Given the description of an element on the screen output the (x, y) to click on. 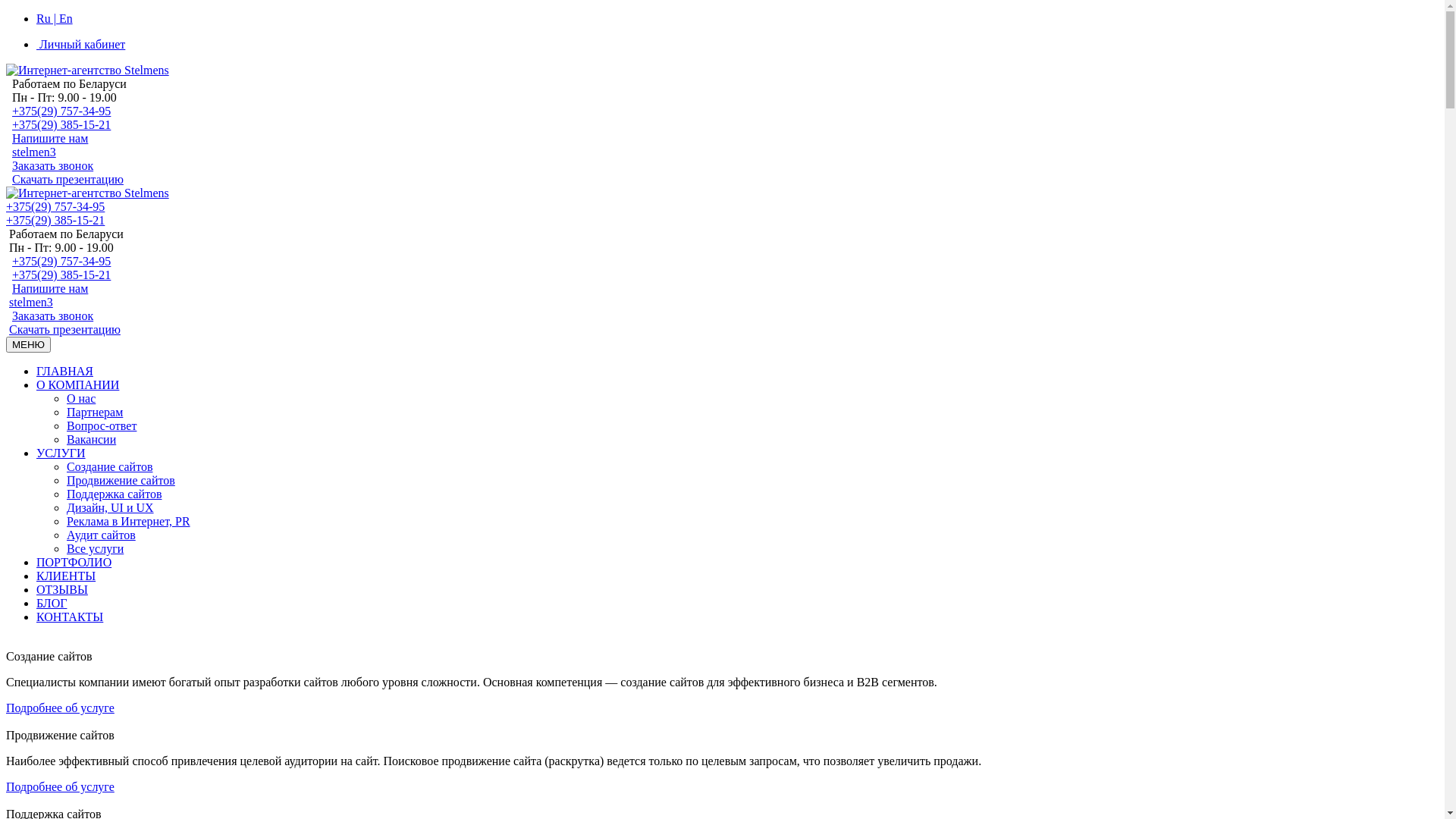
+375(29) 385-15-21 Element type: text (61, 274)
+375(29) 757-34-95 Element type: text (61, 260)
+375(29) 757-34-95 Element type: text (55, 206)
+375(29) 385-15-21 Element type: text (61, 124)
stelmen3 Element type: text (31, 301)
Ru | En Element type: text (54, 18)
+375(29) 757-34-95 Element type: text (61, 110)
+375(29) 385-15-21 Element type: text (55, 219)
stelmen3 Element type: text (34, 151)
